Given the description of an element on the screen output the (x, y) to click on. 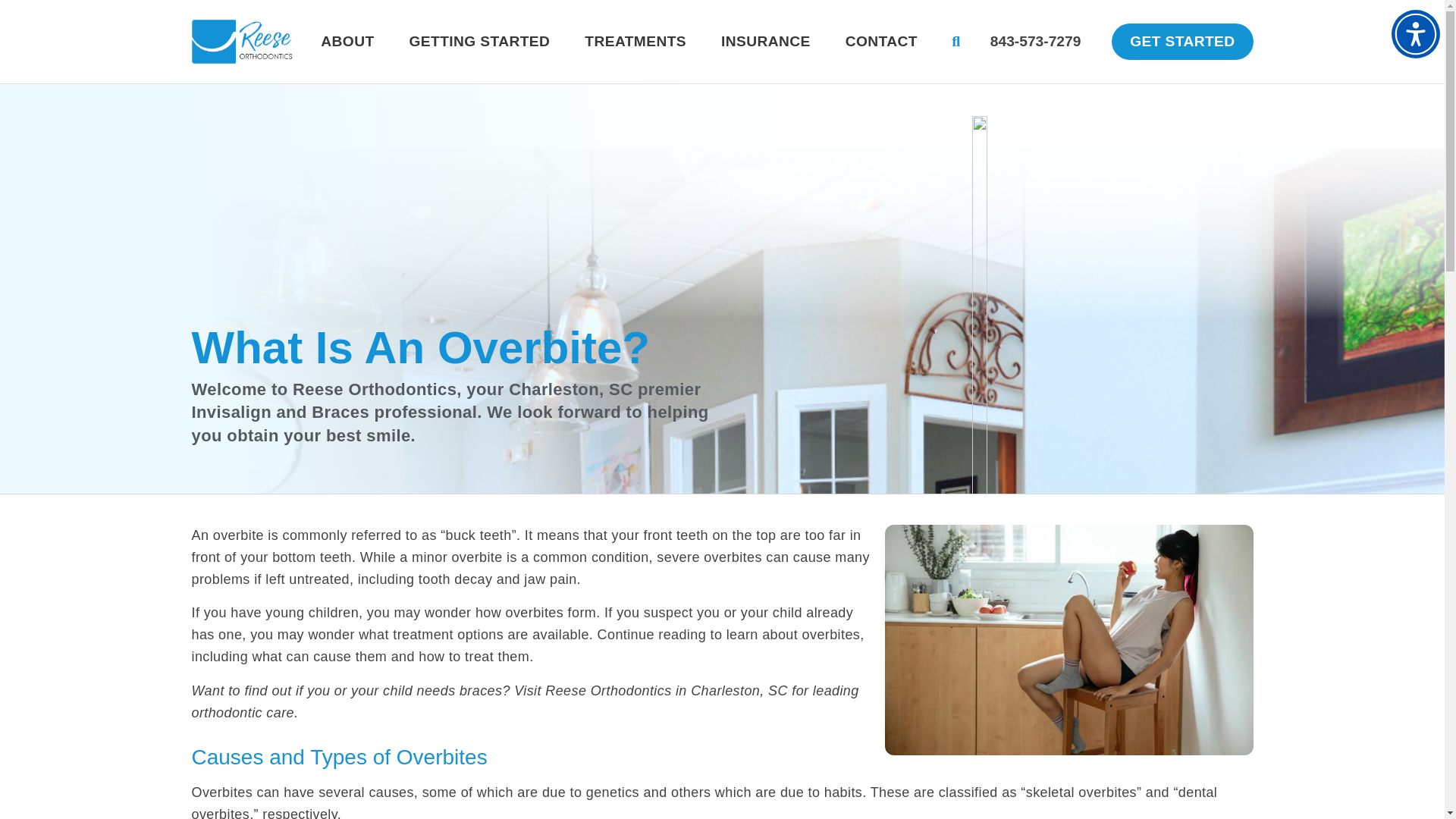
843-573-7279 (1035, 41)
CONTACT (881, 41)
GET STARTED (1182, 40)
TREATMENTS (635, 41)
ABOUT (347, 41)
INSURANCE (765, 41)
GETTING STARTED (479, 41)
Accessibility Menu (1415, 33)
